Given the description of an element on the screen output the (x, y) to click on. 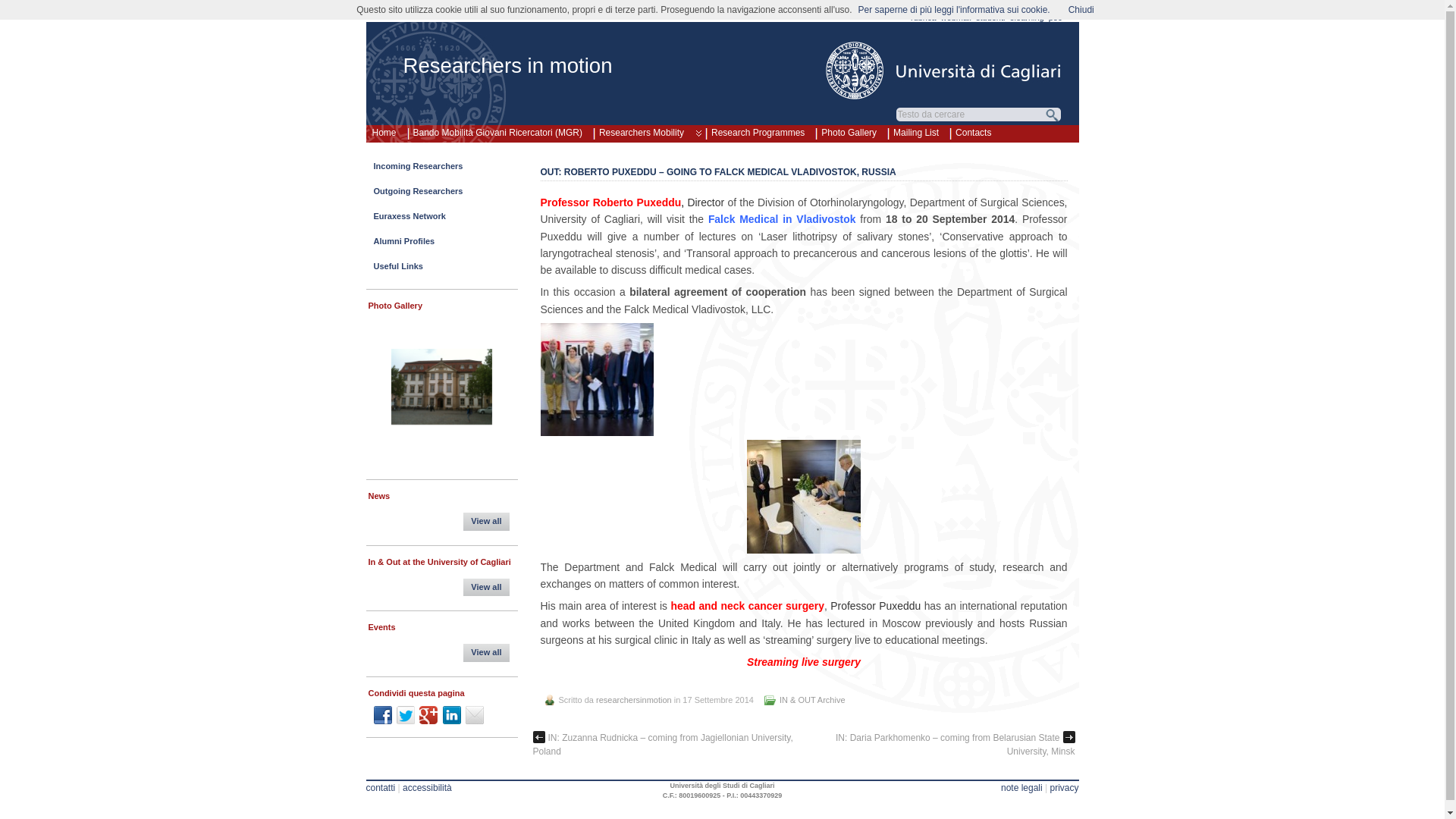
servizi online agli studenti (990, 17)
Streaming live surgery  (804, 662)
uffici e personale: cerca i recapiti nella rubrica online (923, 17)
Incoming Researchers (440, 170)
Testo da cercare (971, 114)
Contacts (973, 129)
 Researchers Mobility (646, 129)
Useful Links (440, 269)
webmail (955, 17)
Research Programmes (757, 129)
Professor Roberto Puxeddu (610, 202)
Photo Gallery (848, 129)
Home (383, 129)
rubrica (923, 17)
Alumni Profiles (440, 244)
